Given the description of an element on the screen output the (x, y) to click on. 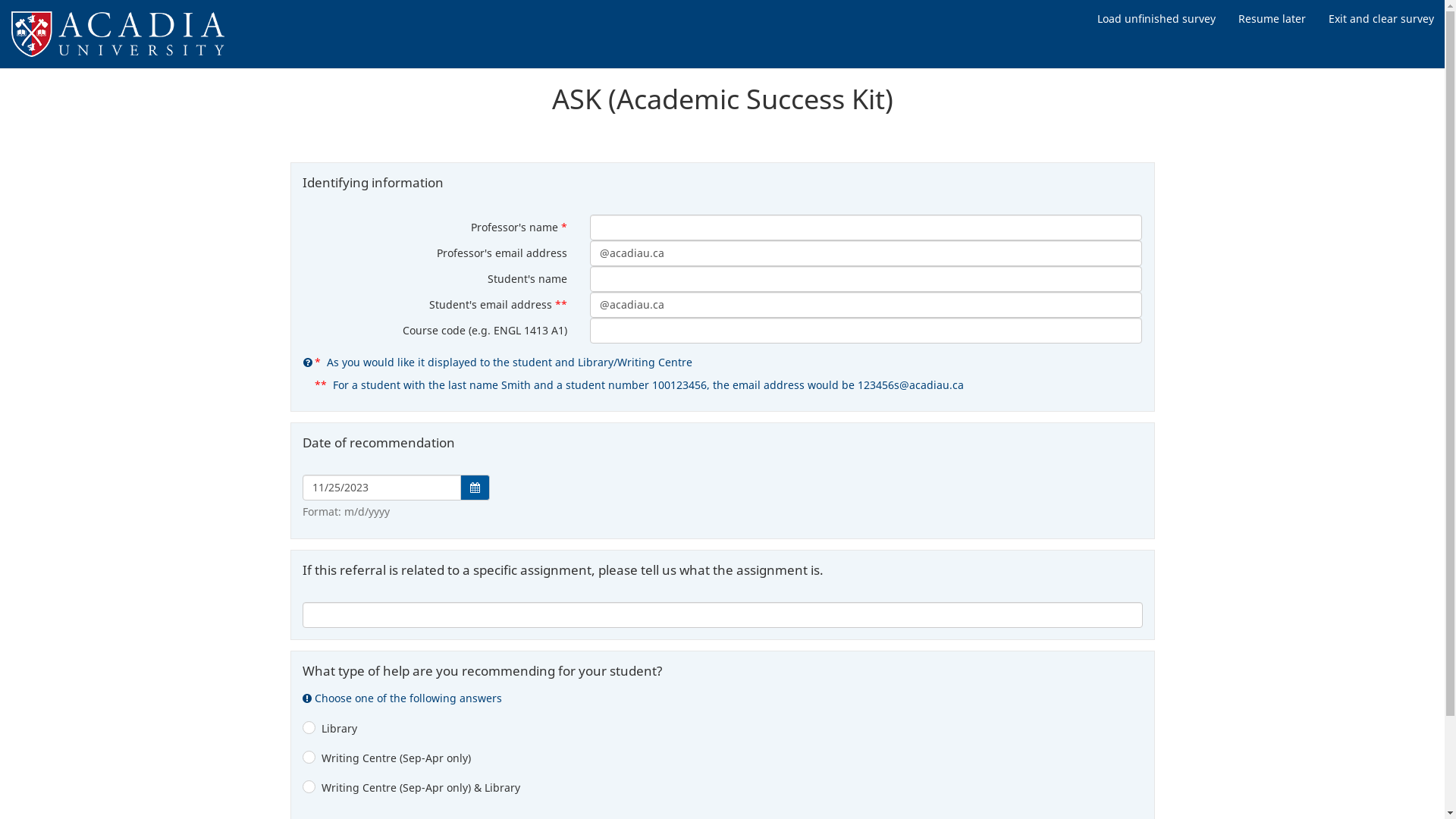
WC Element type: text (307, 759)
Load unfinished survey Element type: text (1155, 18)
Both Element type: text (307, 789)
Resume later Element type: text (1271, 18)
Lib Element type: text (307, 730)
Exit and clear survey Element type: text (1381, 18)
